Given the description of an element on the screen output the (x, y) to click on. 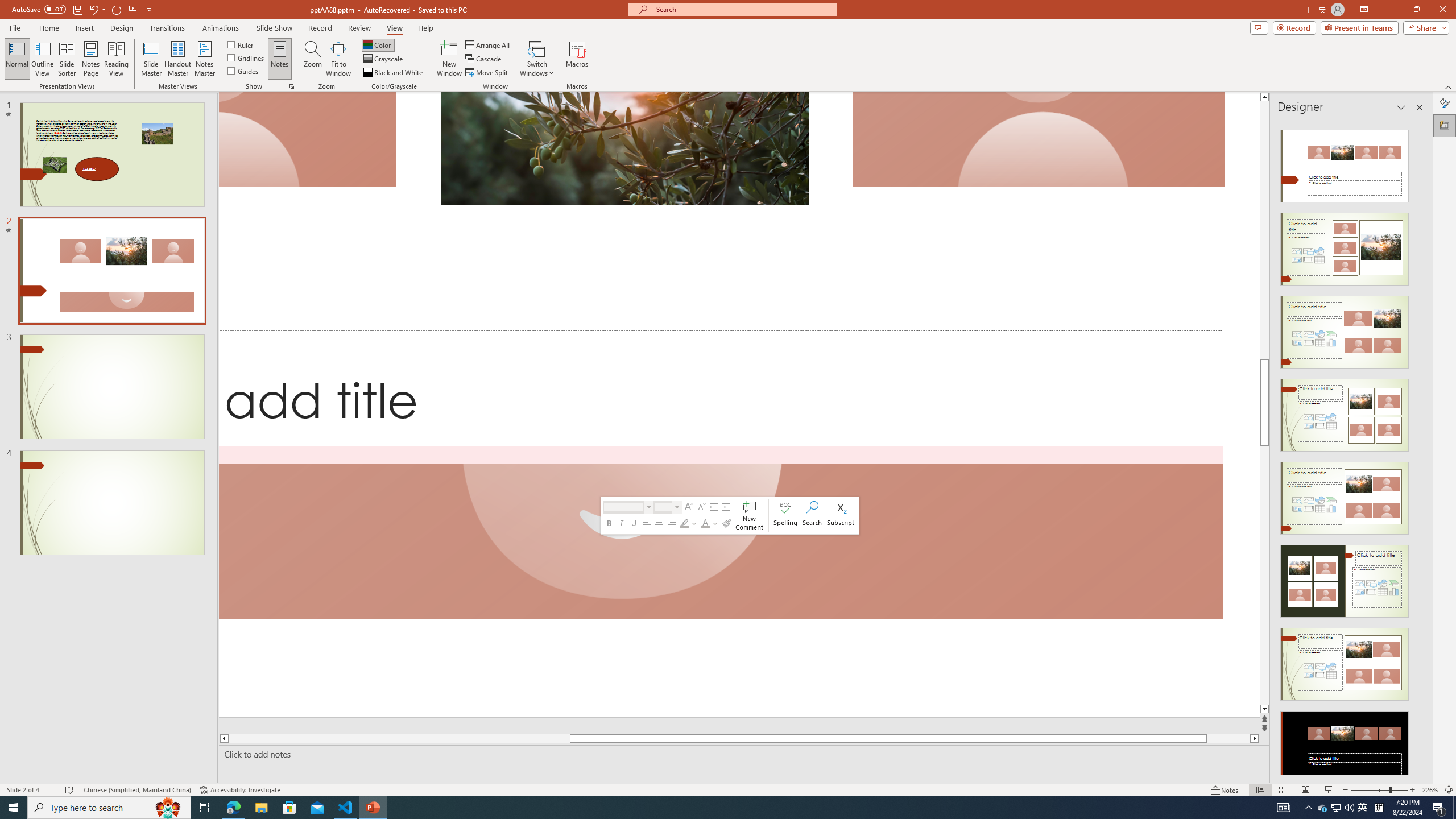
Move Split (487, 72)
Grayscale (383, 58)
Outline View (42, 58)
Class: NetUIScrollBar (1418, 447)
Switch Windows (537, 58)
